Given the description of an element on the screen output the (x, y) to click on. 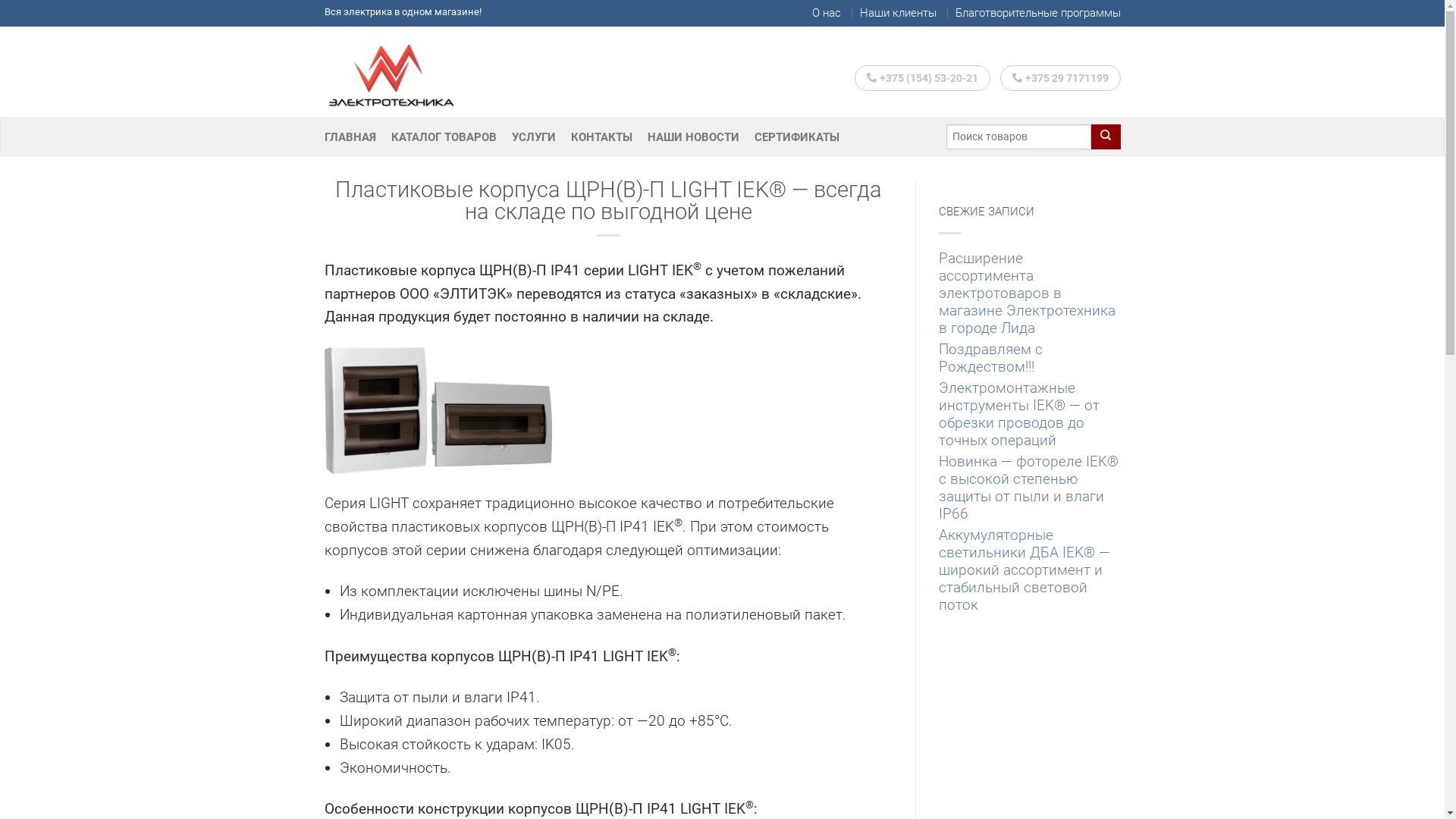
+375 (154) 53-20-21 Element type: text (922, 78)
electrotehnika.by -  Element type: hover (400, 71)
+375 29 7171199 Element type: text (1059, 78)
